Given the description of an element on the screen output the (x, y) to click on. 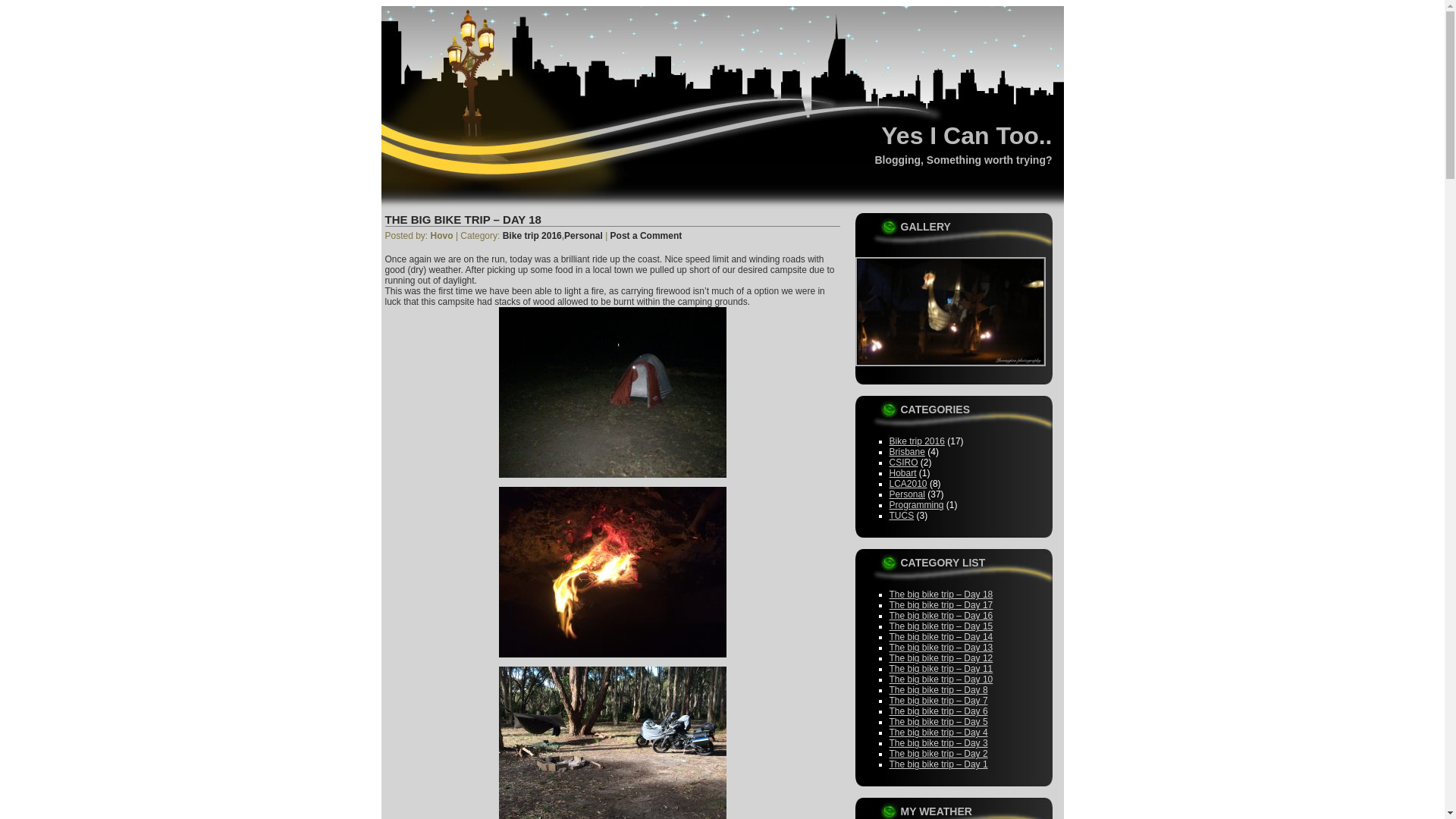
Post a Comment Element type: text (646, 235)
Personal Element type: text (906, 494)
Brisbane Element type: text (906, 451)
DSC02627 Element type: hover (950, 311)
Bike trip 2016 Element type: text (916, 441)
Yes I Can Too.. Element type: text (966, 135)
Personal Element type: text (583, 235)
TUCS Element type: text (900, 515)
LCA2010 Element type: text (907, 483)
Bike trip 2016 Element type: text (531, 235)
Hobart Element type: text (902, 472)
CSIRO Element type: text (902, 462)
Programming Element type: text (915, 504)
